Given the description of an element on the screen output the (x, y) to click on. 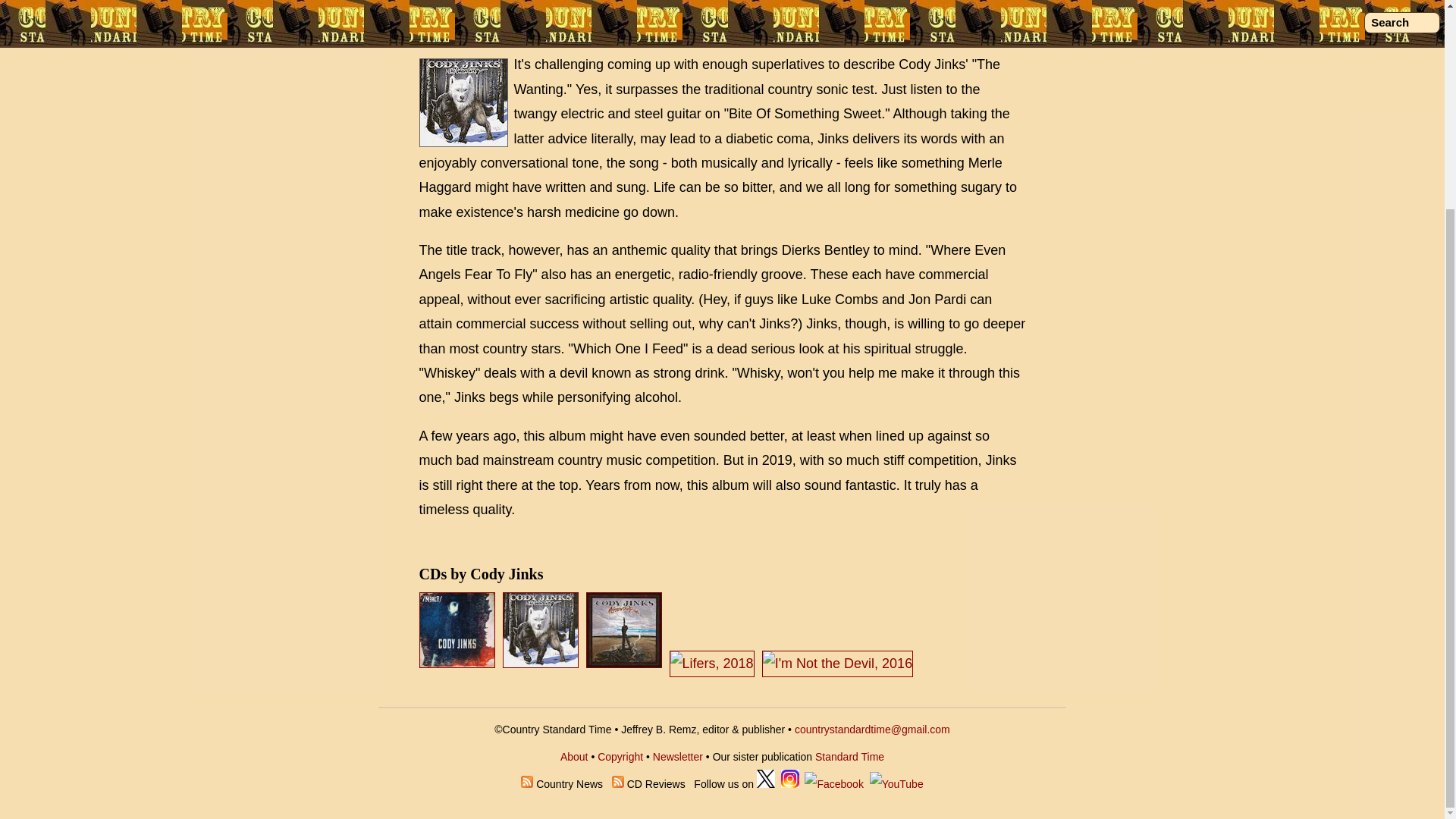
I'm Not the Devil, 2016 (839, 663)
About (574, 756)
Facebook (834, 784)
Instagram (789, 784)
Subscribe to Country Music CD Reviews (617, 784)
I'm Not the Devil, 2016 (837, 663)
The Wanting, 2019 (540, 630)
Twitter (765, 784)
Standard Time (849, 756)
After the Fire, 2019 (624, 630)
Lifers, 2018 (713, 663)
After the Fire, 2019 (625, 663)
Mercy, 2021 (457, 630)
Copyright (619, 756)
Subscribe to Country Music News (526, 784)
